Given the description of an element on the screen output the (x, y) to click on. 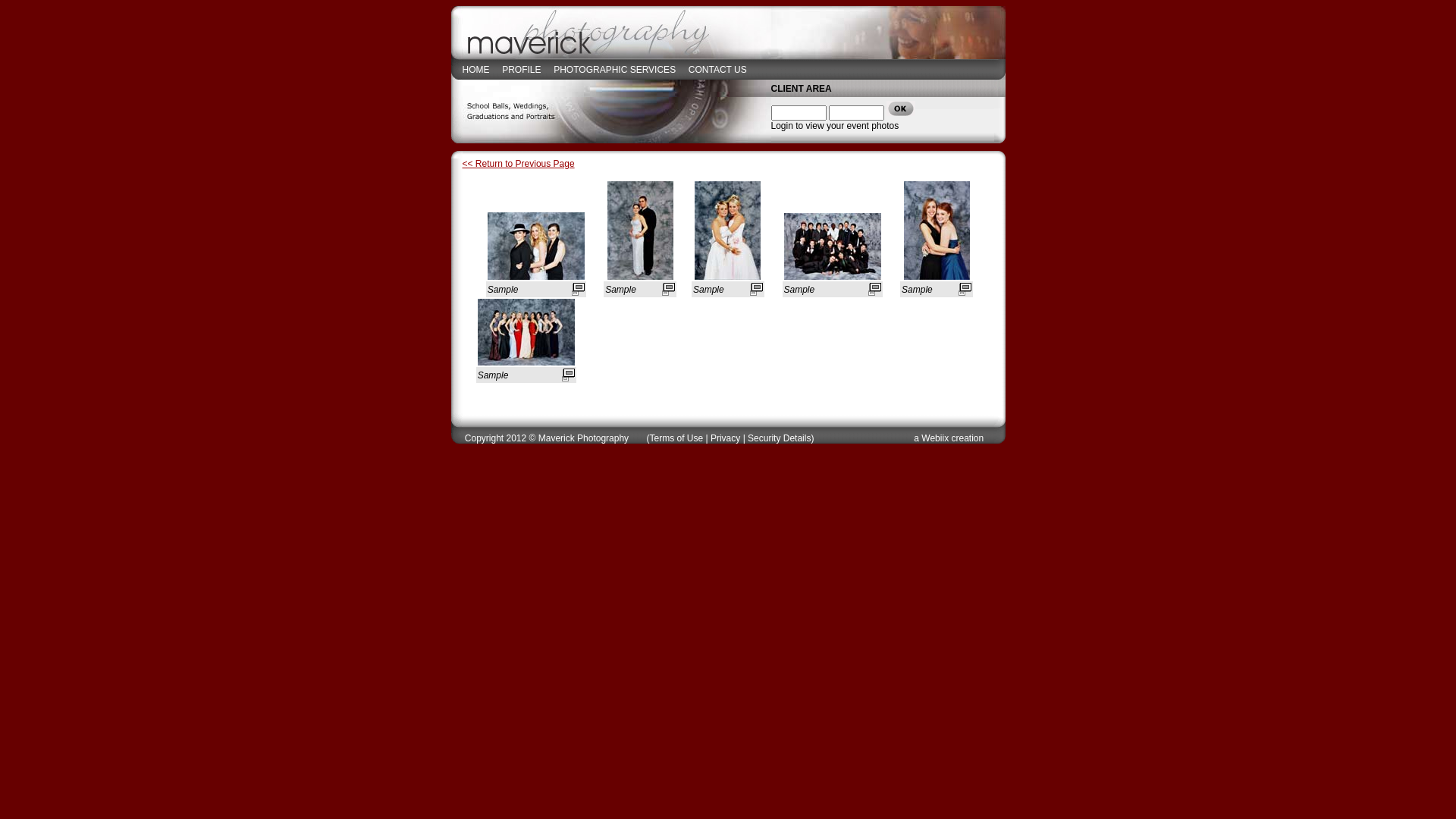
PHOTOGRAPHIC SERVICES Element type: text (614, 68)
Security Details Element type: text (778, 438)
PROFILE Element type: text (521, 68)
<< Return to Previous Page Element type: text (518, 163)
a Webiix creation Element type: text (948, 438)
Terms of Use Element type: text (675, 438)
Privacy Element type: text (725, 438)
HOME Element type: text (475, 68)
CONTACT US Element type: text (717, 68)
